Given the description of an element on the screen output the (x, y) to click on. 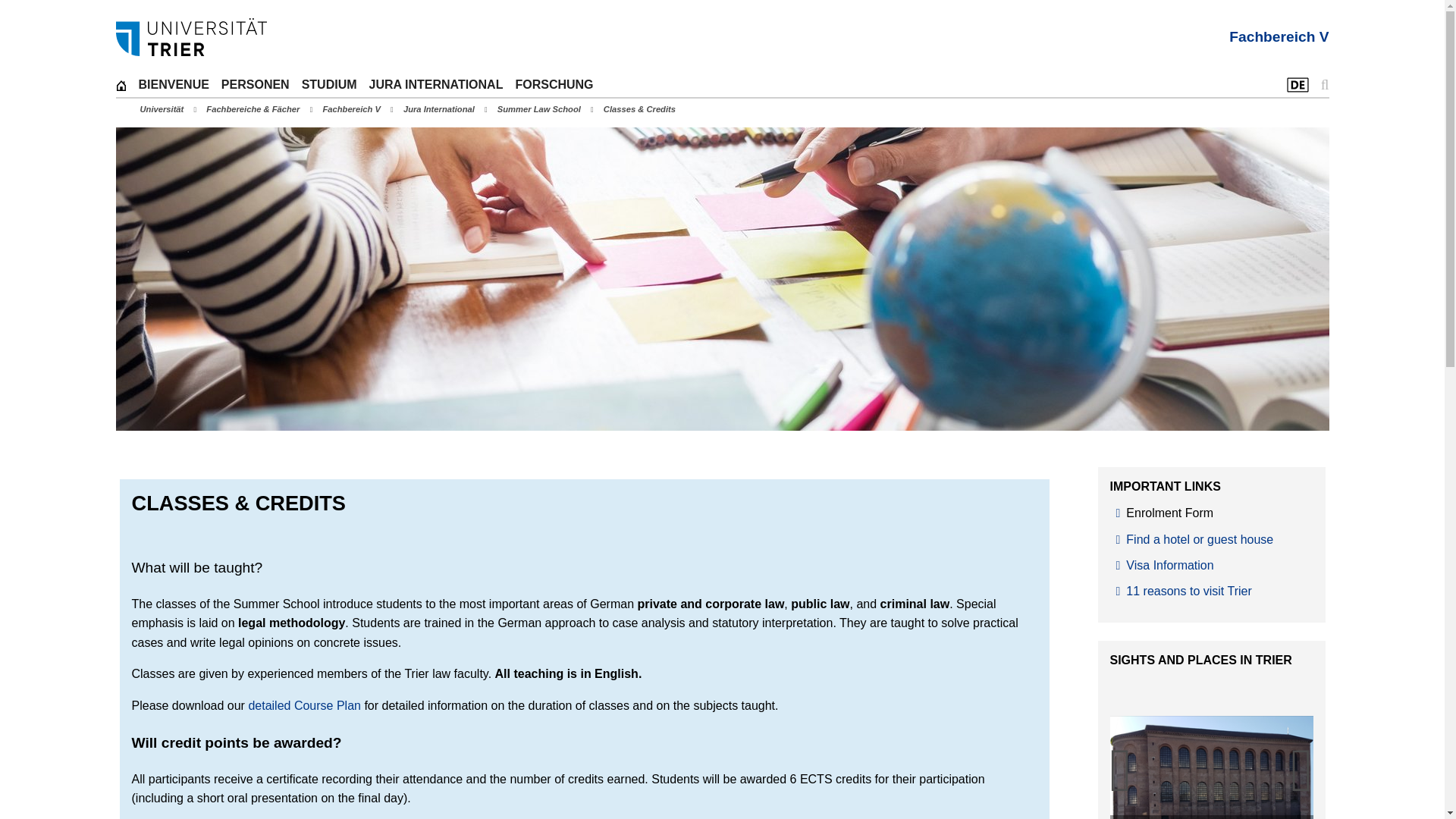
Fachbereich V (1277, 36)
Page d'accueil (120, 85)
Startseite (190, 37)
